Given the description of an element on the screen output the (x, y) to click on. 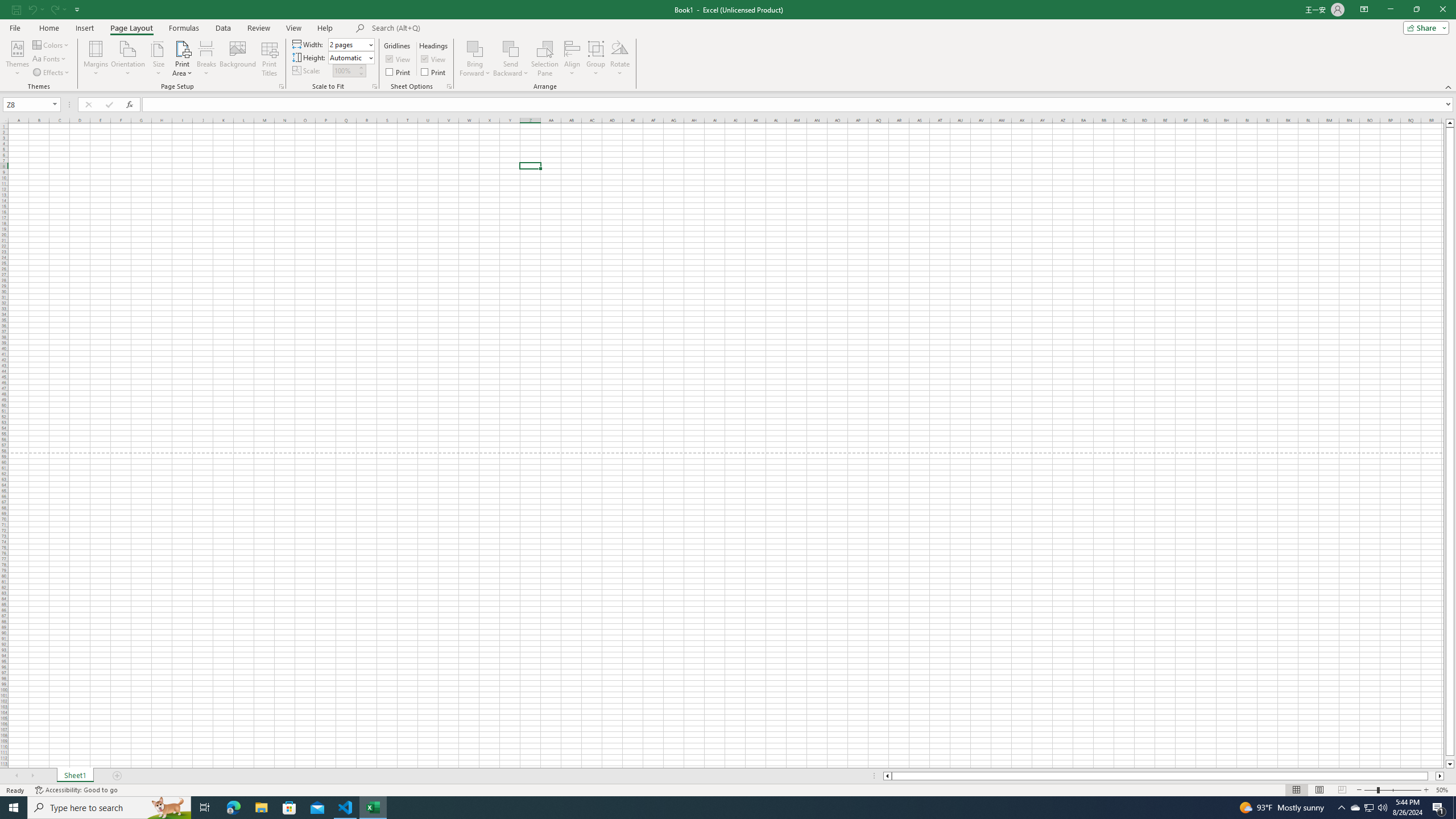
Themes (17, 58)
